Given the description of an element on the screen output the (x, y) to click on. 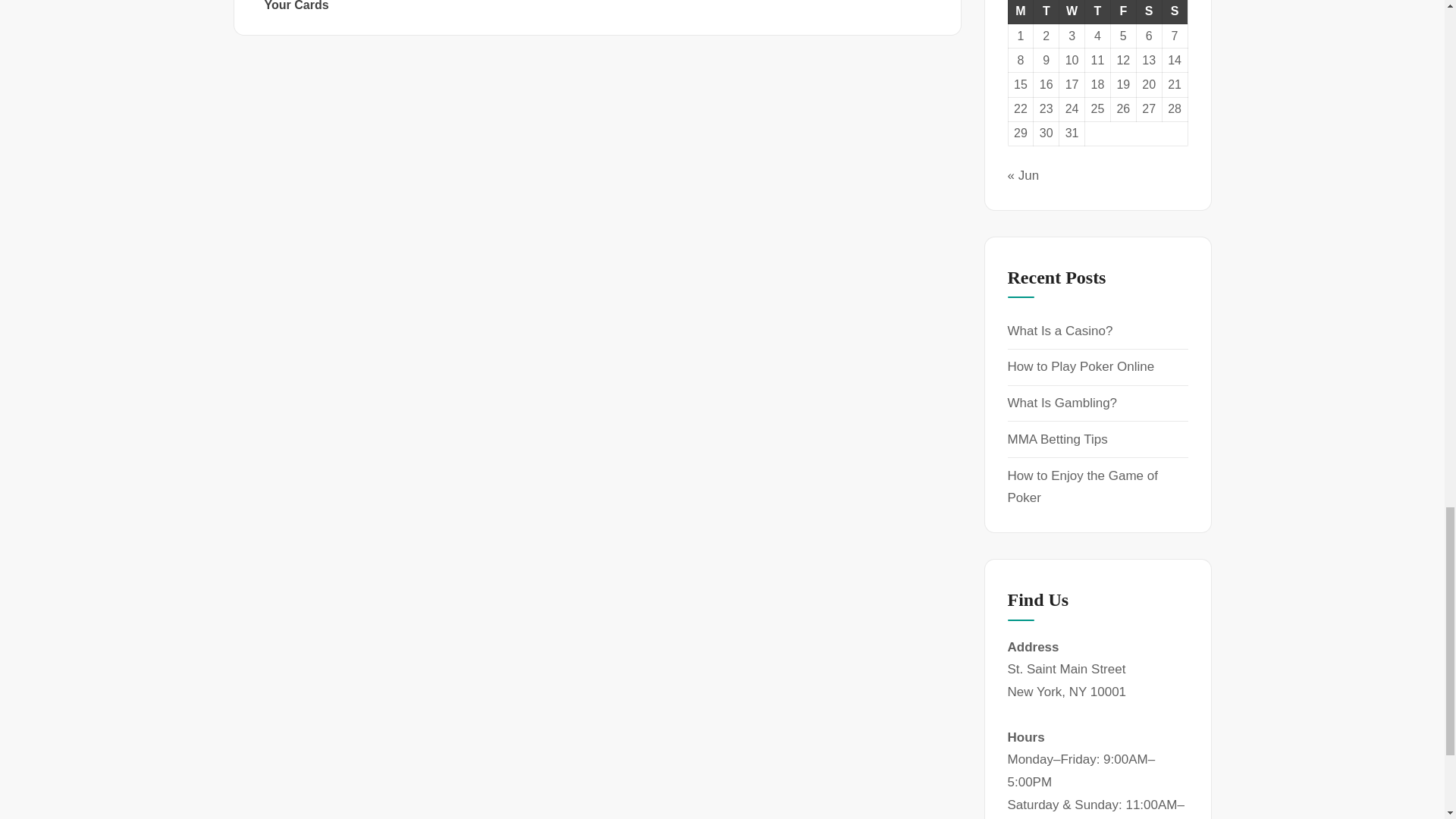
Saturday (1148, 11)
Monday (1020, 11)
Sunday (1174, 11)
Tuesday (1046, 11)
Thursday (1097, 11)
Wednesday (1071, 11)
Friday (1122, 11)
